Given the description of an element on the screen output the (x, y) to click on. 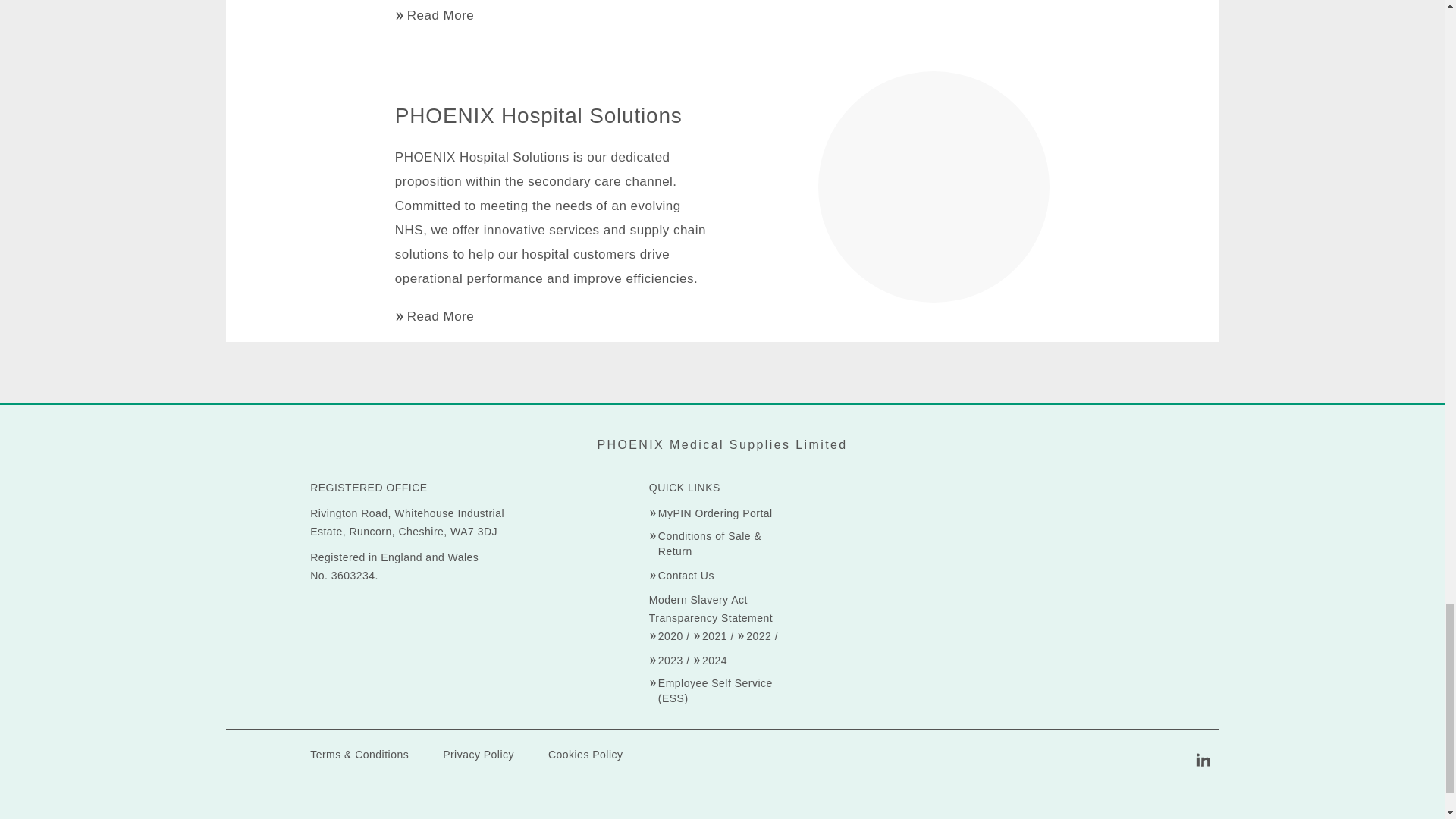
Read More (434, 316)
Opens external link in new window (681, 575)
Opens external link in new window (711, 513)
Opens external link in new window (721, 543)
Opens external link in new window (665, 635)
Read More (434, 14)
LinkedIn (1203, 759)
slavery (665, 660)
MyPIN Ordering Portal (711, 513)
Opens external link in new window (721, 690)
